Given the description of an element on the screen output the (x, y) to click on. 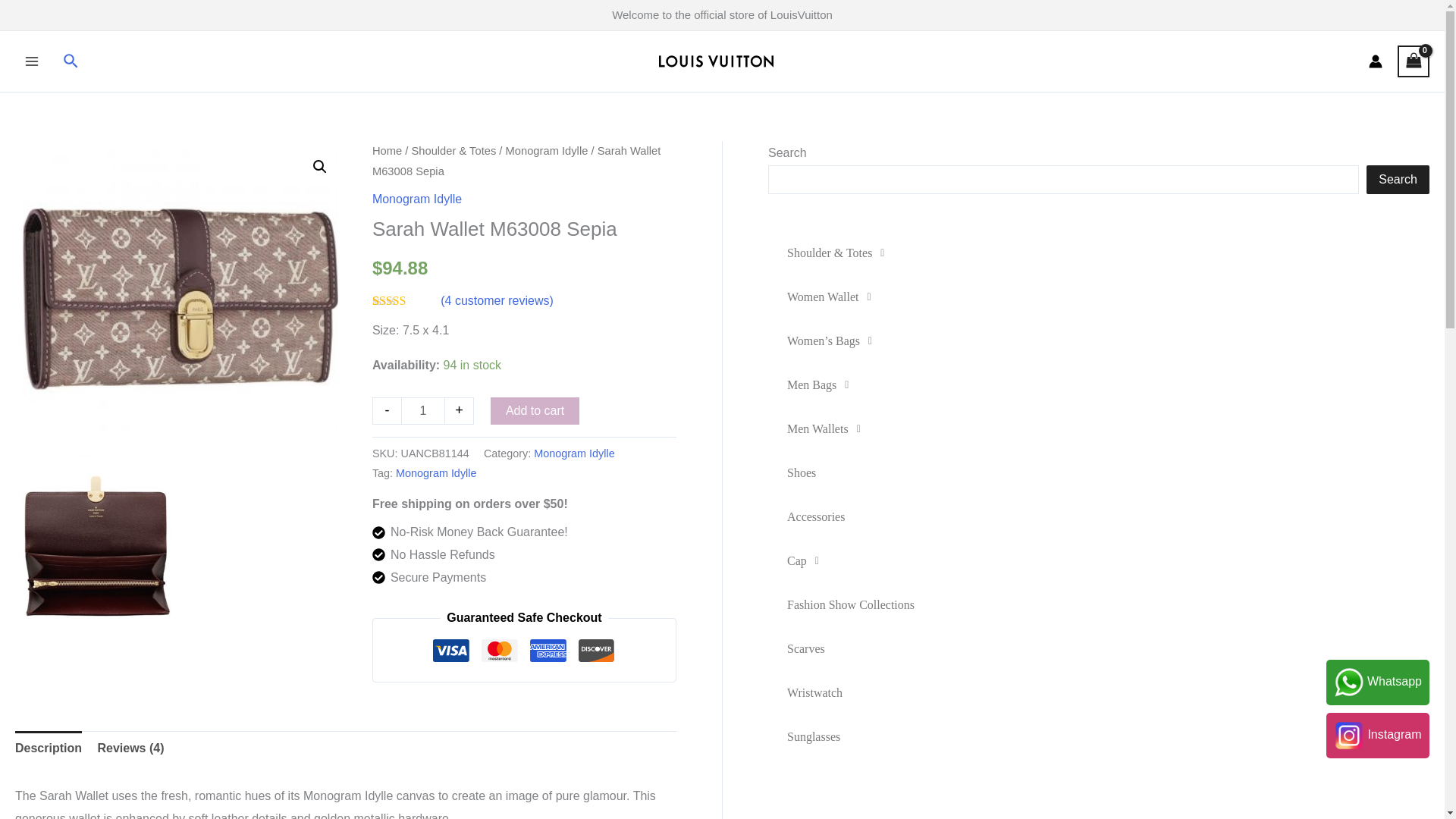
1 (423, 410)
 Instagram (1377, 734)
Home (386, 150)
Monogram Idylle (436, 472)
Description (47, 748)
Monogram Idylle (416, 198)
2013012982238113.jpg (180, 298)
2013012982235249.jpg (98, 545)
- (386, 410)
Monogram Idylle (546, 150)
